Given the description of an element on the screen output the (x, y) to click on. 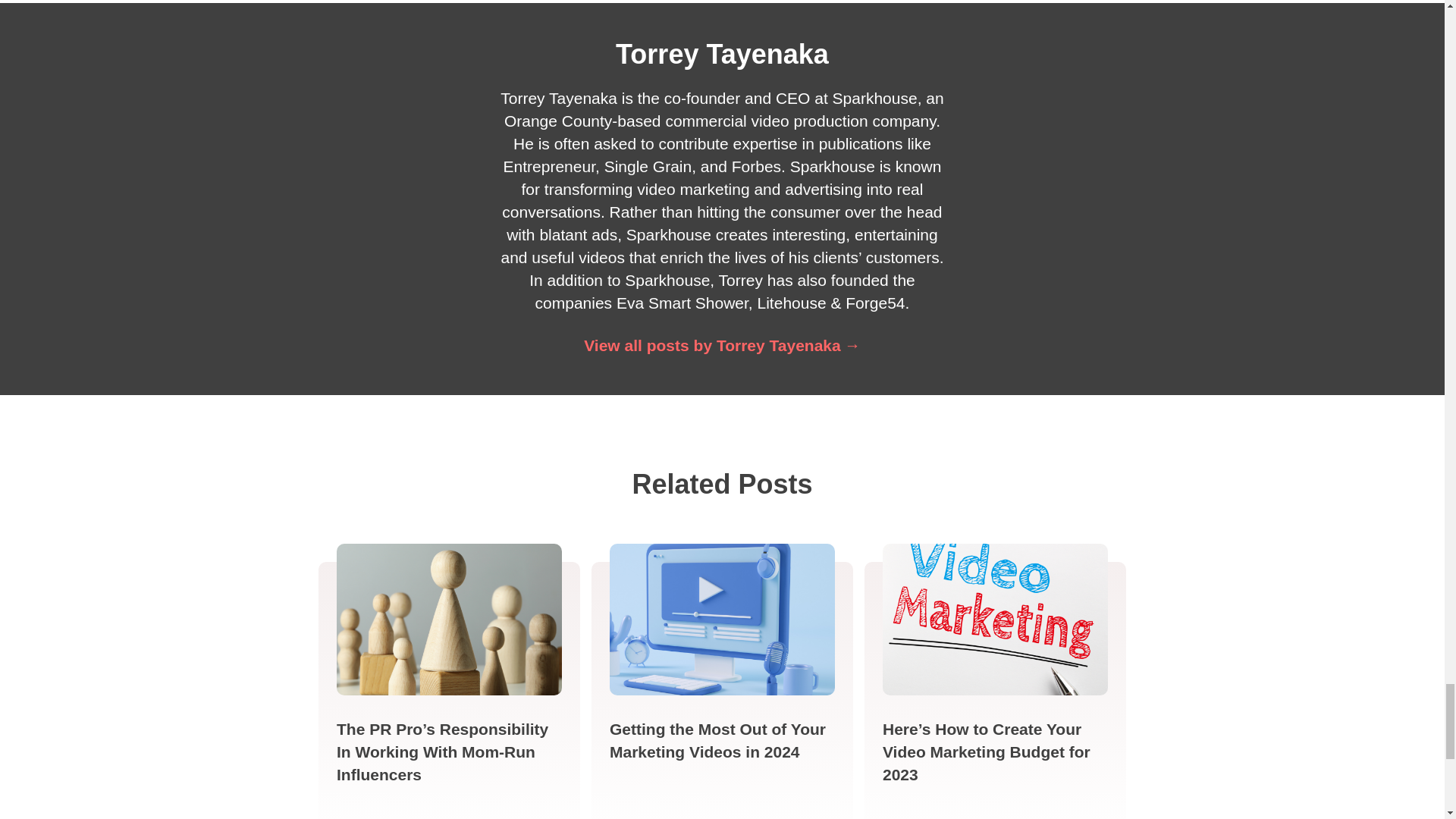
Getting the Most Out of Your Marketing Videos in 2024 (717, 740)
View all posts by Torrey Tayenaka (721, 344)
